Given the description of an element on the screen output the (x, y) to click on. 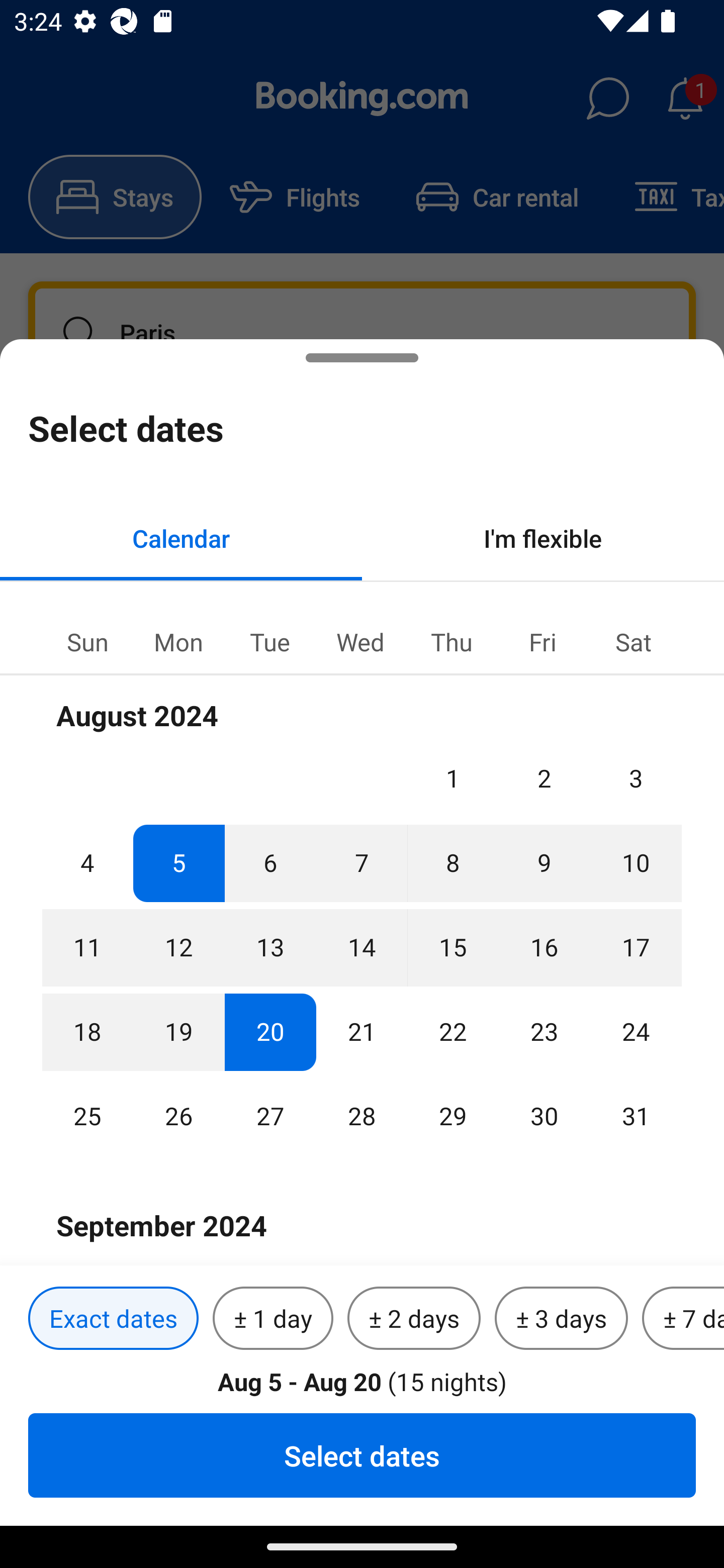
I'm flexible (543, 537)
Exact dates (113, 1318)
± 1 day (272, 1318)
± 2 days (413, 1318)
± 3 days (560, 1318)
± 7 days (683, 1318)
Select dates (361, 1454)
